Given the description of an element on the screen output the (x, y) to click on. 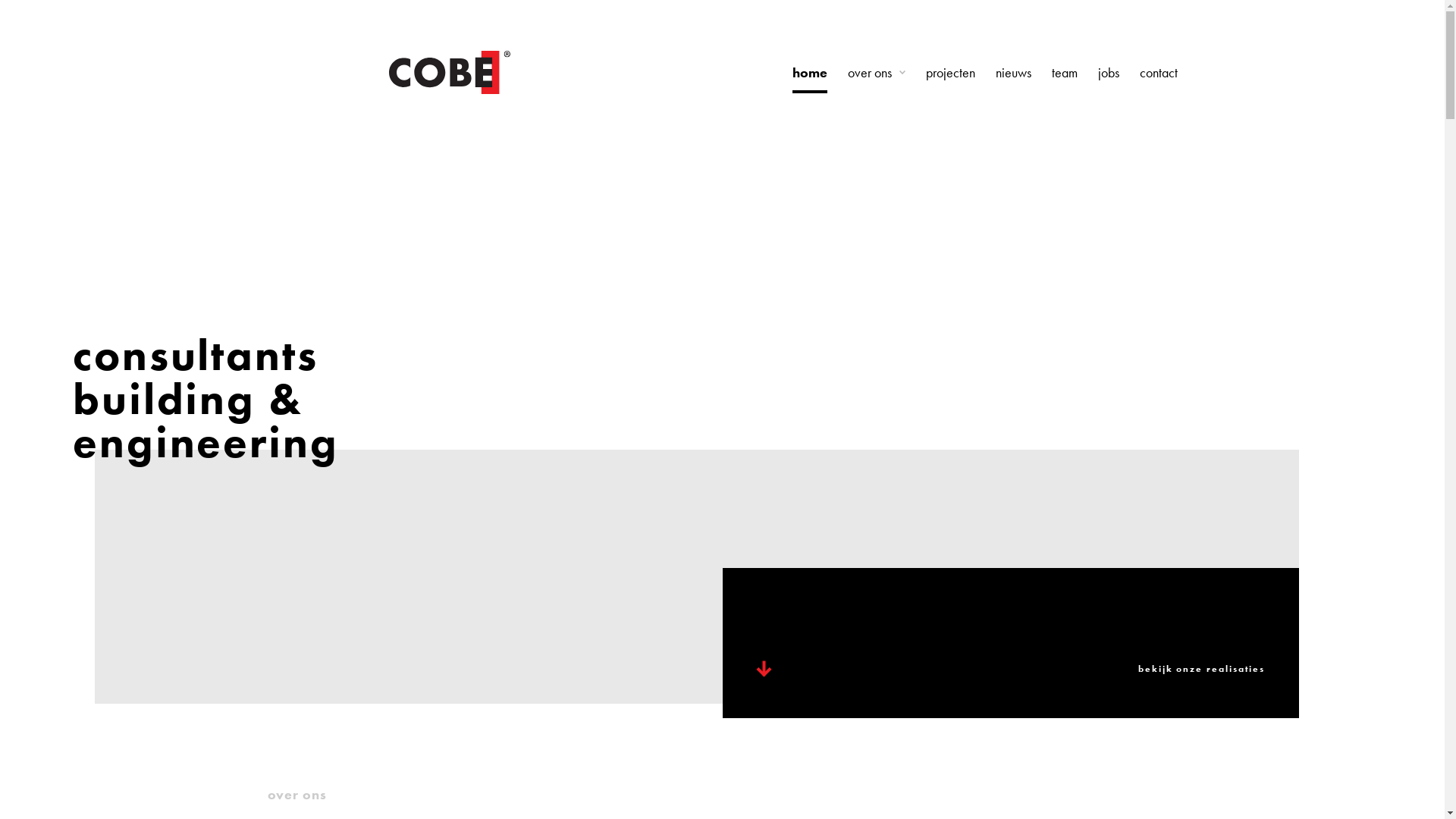
nieuws Element type: text (1012, 72)
jobs Element type: text (1108, 72)
team Element type: text (1063, 72)
bekijk onze realisaties Element type: text (1010, 642)
home Element type: text (808, 72)
contact Element type: text (1157, 72)
projecten Element type: text (949, 72)
